Given the description of an element on the screen output the (x, y) to click on. 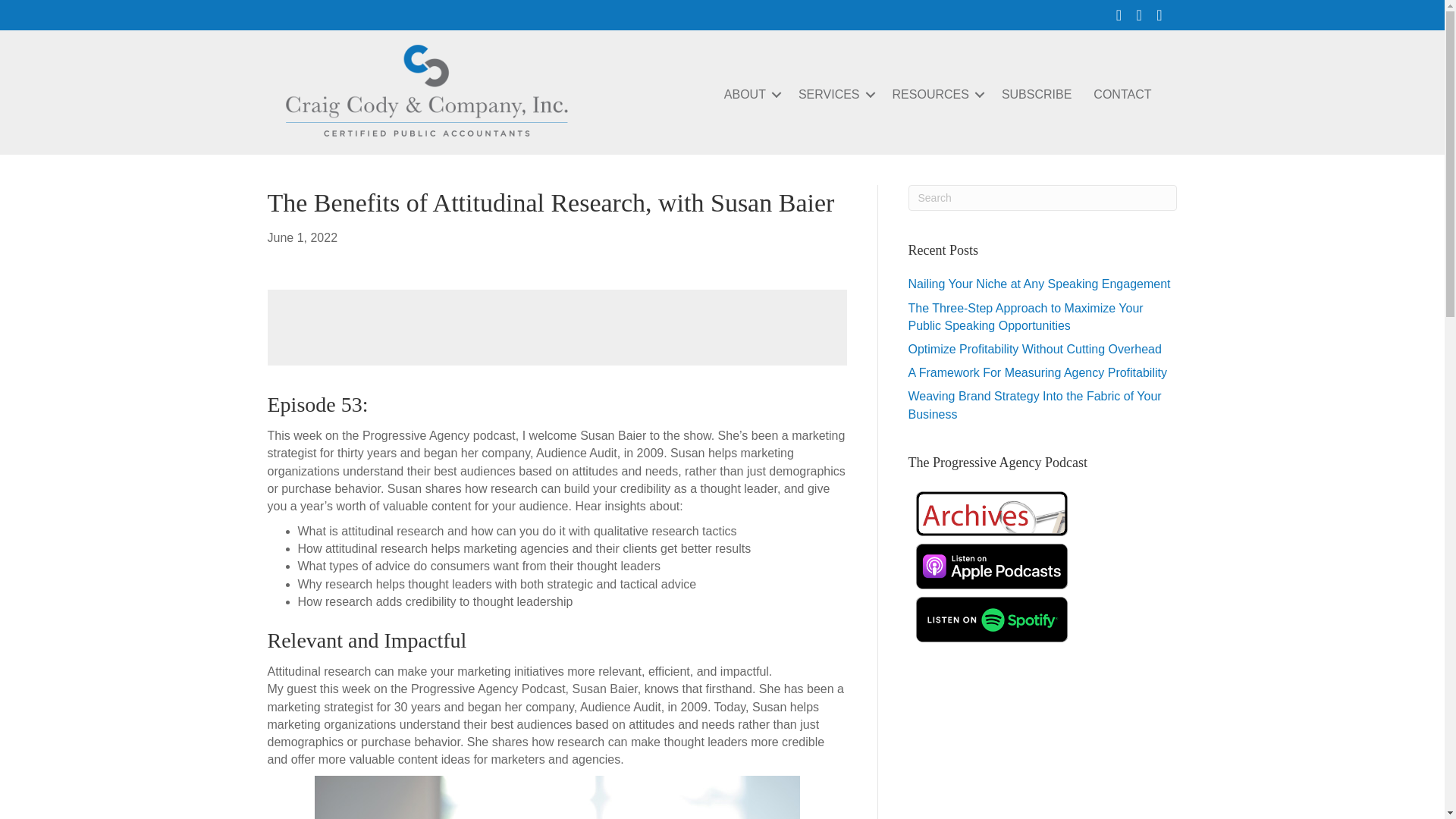
SUBSCRIBE (1036, 94)
Optimize Profitability Without Cutting Overhead (1034, 349)
SERVICES (833, 94)
Type and press Enter to search. (1042, 197)
ABOUT (750, 94)
craig-cody-and-company-2021 (426, 90)
A Framework For Measuring Agency Profitability (1037, 372)
Nailing Your Niche at Any Speaking Engagement (1039, 283)
RESOURCES (936, 94)
CONTACT (1122, 94)
